Given the description of an element on the screen output the (x, y) to click on. 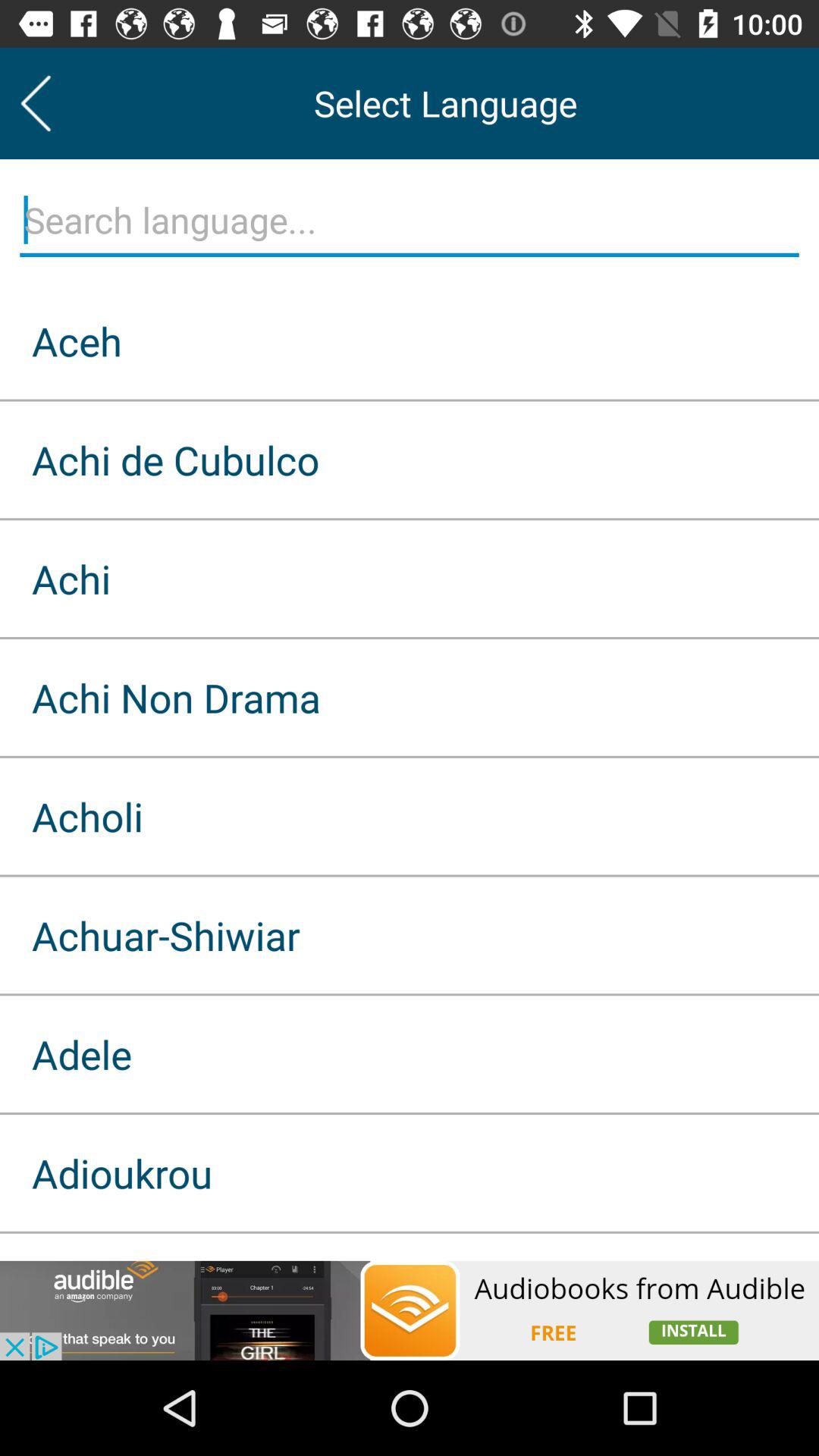
search language (409, 220)
